Given the description of an element on the screen output the (x, y) to click on. 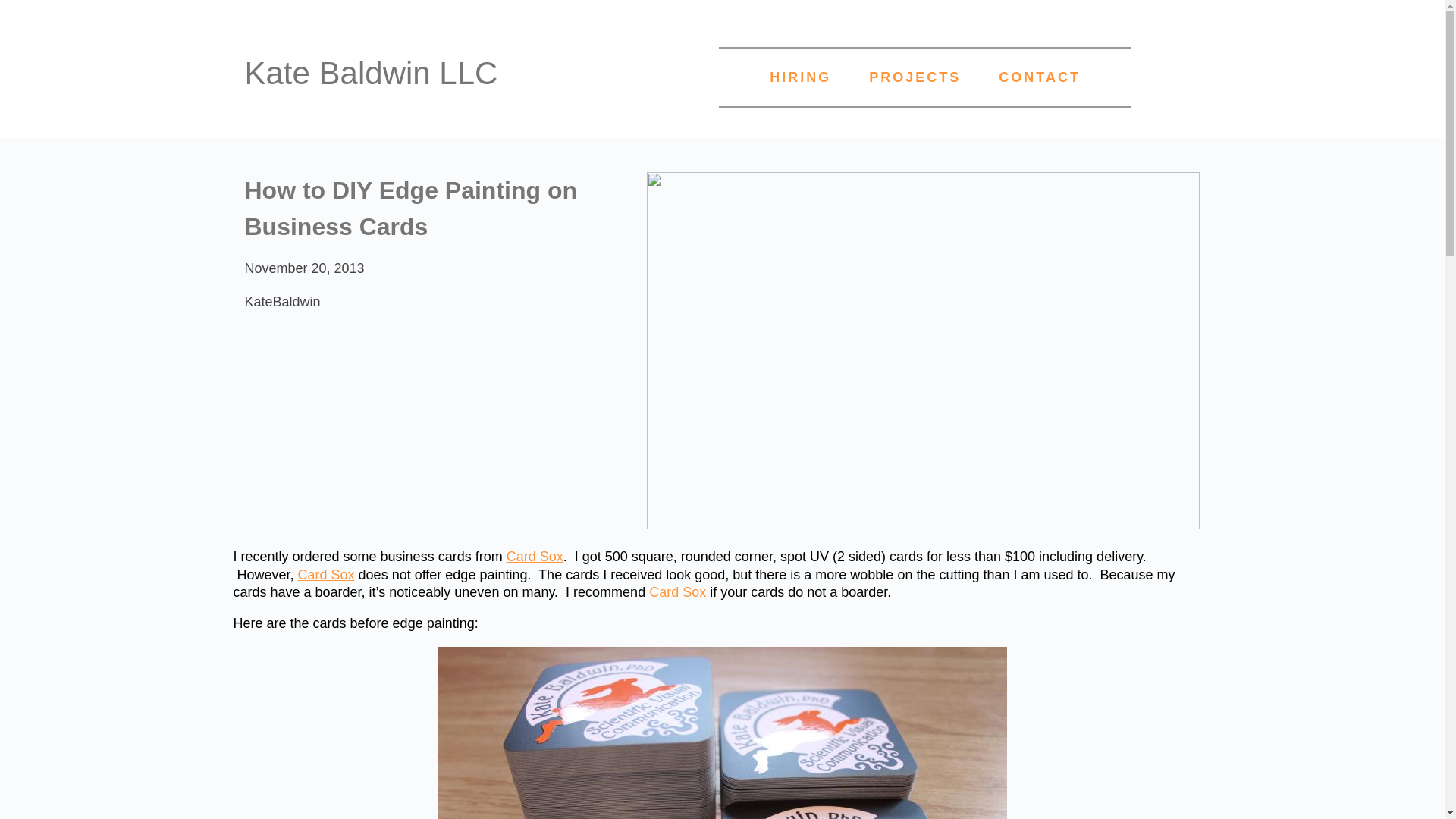
Card Sox (677, 591)
Kate Baldwin LLC (370, 72)
Card Sox (326, 574)
Card Sox (534, 556)
CONTACT (1040, 77)
HIRING (799, 77)
PROJECTS (914, 77)
